Given the description of an element on the screen output the (x, y) to click on. 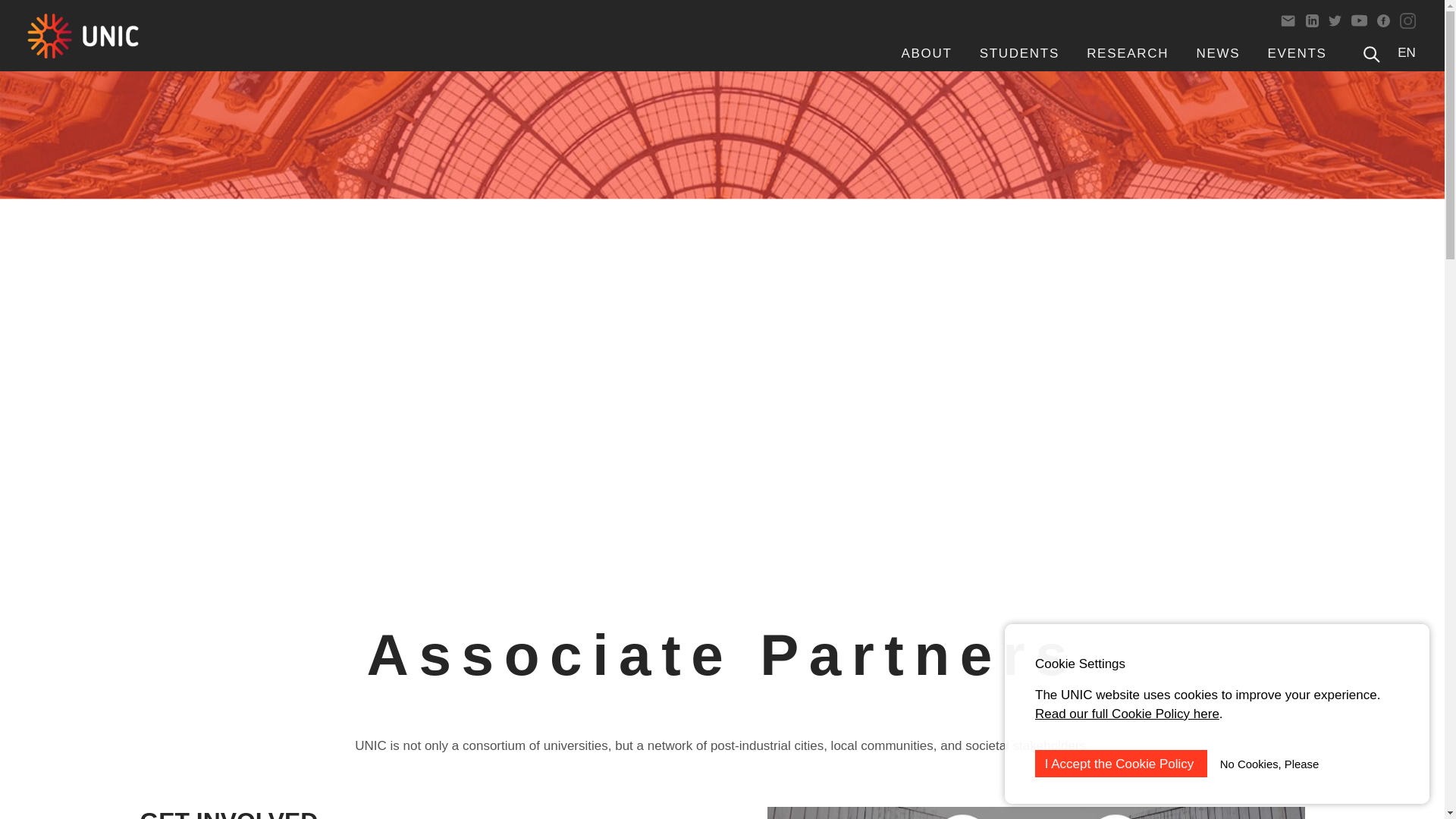
EVENTS (1296, 52)
ABOUT (926, 52)
RESEARCH (1127, 52)
NEWS (1217, 52)
STUDENTS (1019, 52)
